Given the description of an element on the screen output the (x, y) to click on. 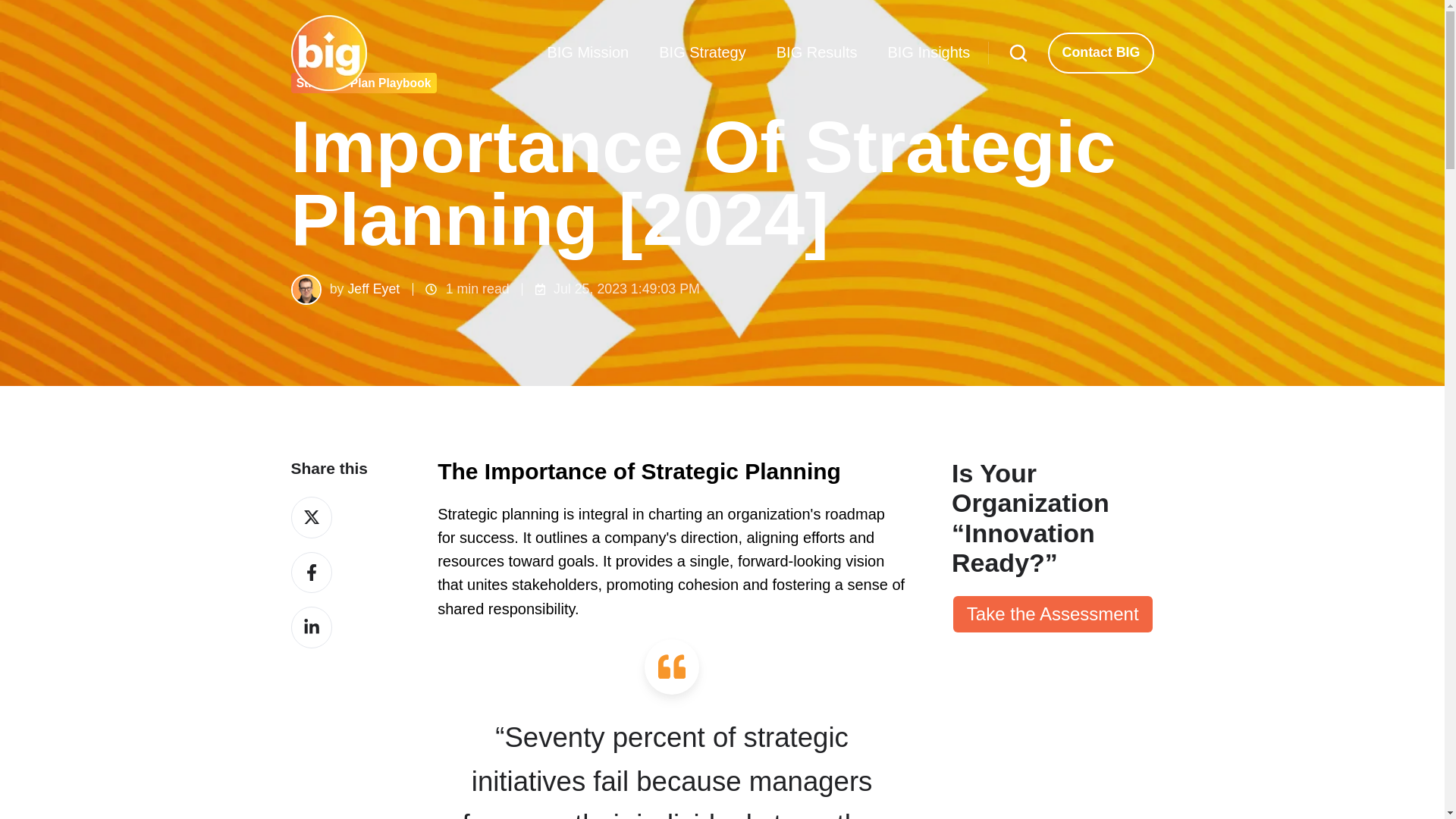
Take the Assessment (1053, 614)
Jeff Eyet (372, 288)
Contact BIG (1100, 52)
Take the Assessment (1053, 614)
Share on Facebook (312, 572)
BIG Insights (927, 52)
BIG Strategy (702, 52)
Strategic Plan Playbook (363, 82)
BIG Logo (328, 52)
BIG Mission (587, 52)
Share on Twitter (312, 517)
BIG Results (816, 52)
Share on LinkedIn (312, 627)
